Given the description of an element on the screen output the (x, y) to click on. 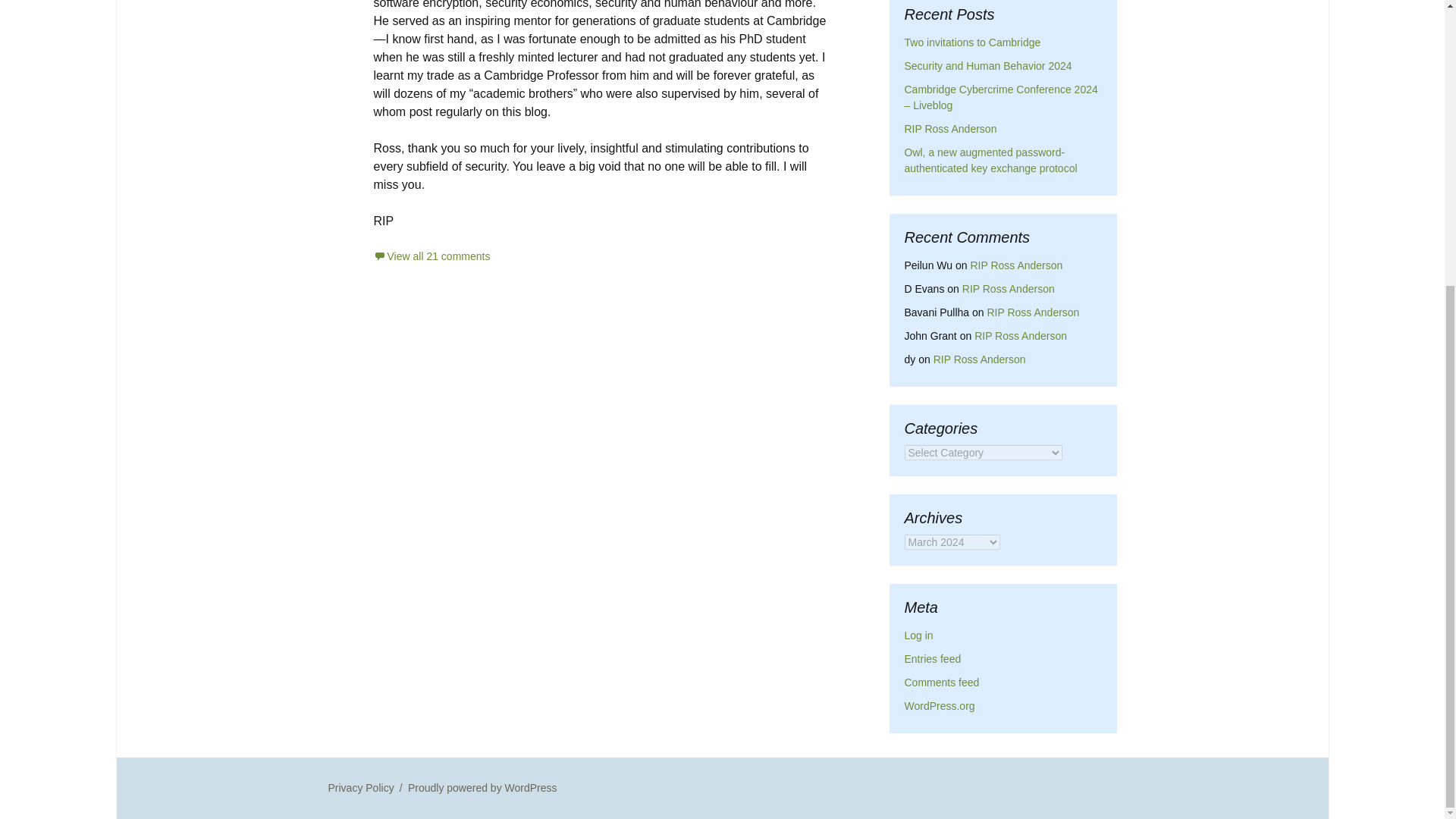
Proudly powered by WordPress (482, 787)
RIP Ross Anderson (1032, 312)
Entries feed (932, 658)
Privacy Policy (360, 787)
Security and Human Behavior 2024 (987, 65)
Log in (918, 635)
Comments feed (941, 682)
View all 21 comments (430, 256)
RIP Ross Anderson (979, 358)
RIP Ross Anderson (1020, 336)
